Given the description of an element on the screen output the (x, y) to click on. 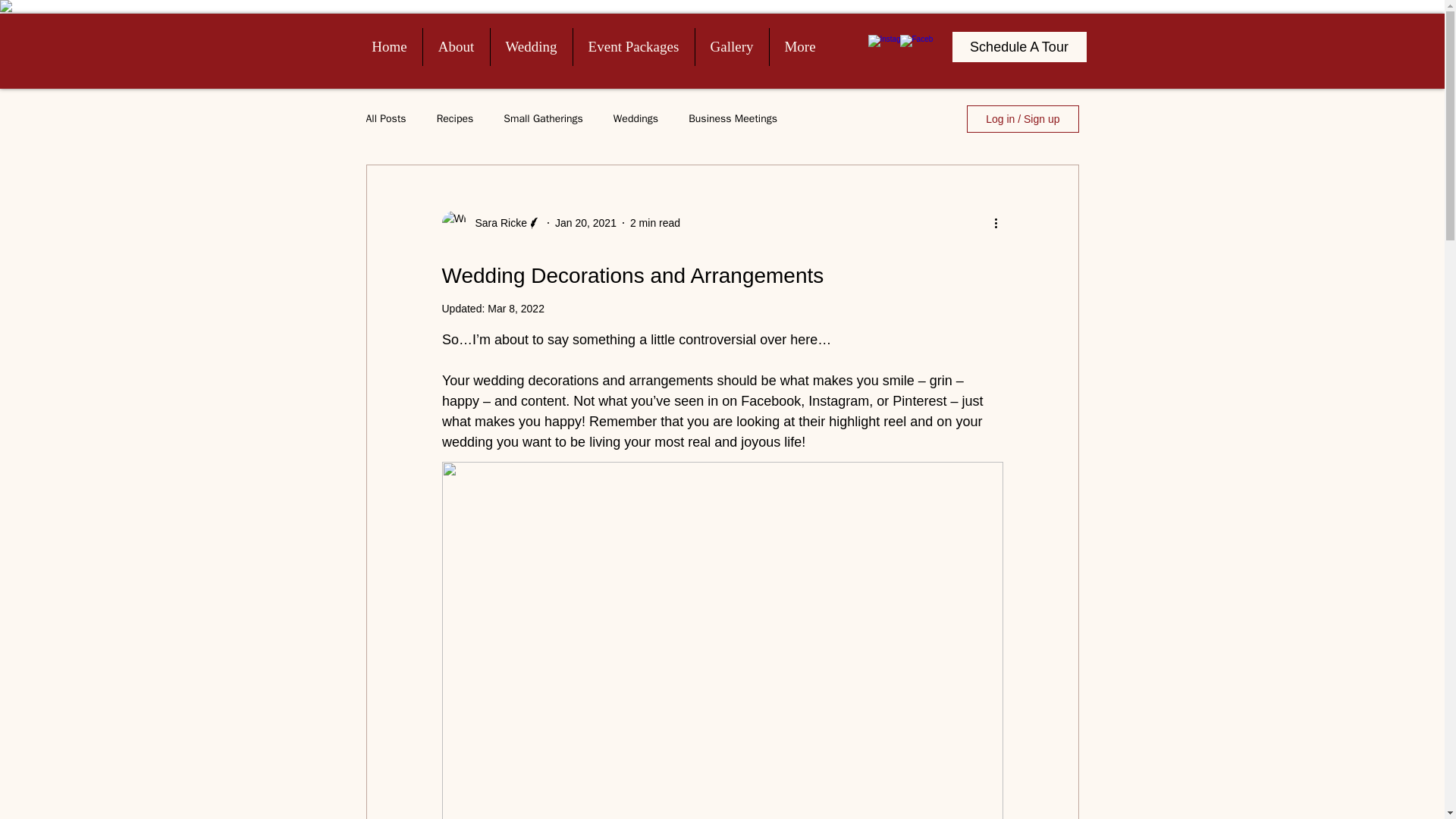
Sara Ricke (495, 222)
Wedding (530, 46)
Home (389, 46)
Weddings (635, 119)
2 min read (654, 223)
All Posts (385, 119)
Jan 20, 2021 (584, 223)
Business Meetings (732, 119)
Small Gatherings (543, 119)
Gallery (731, 46)
Schedule A Tour (1019, 46)
Mar 8, 2022 (515, 308)
Recipes (455, 119)
Event Packages (633, 46)
About (456, 46)
